Given the description of an element on the screen output the (x, y) to click on. 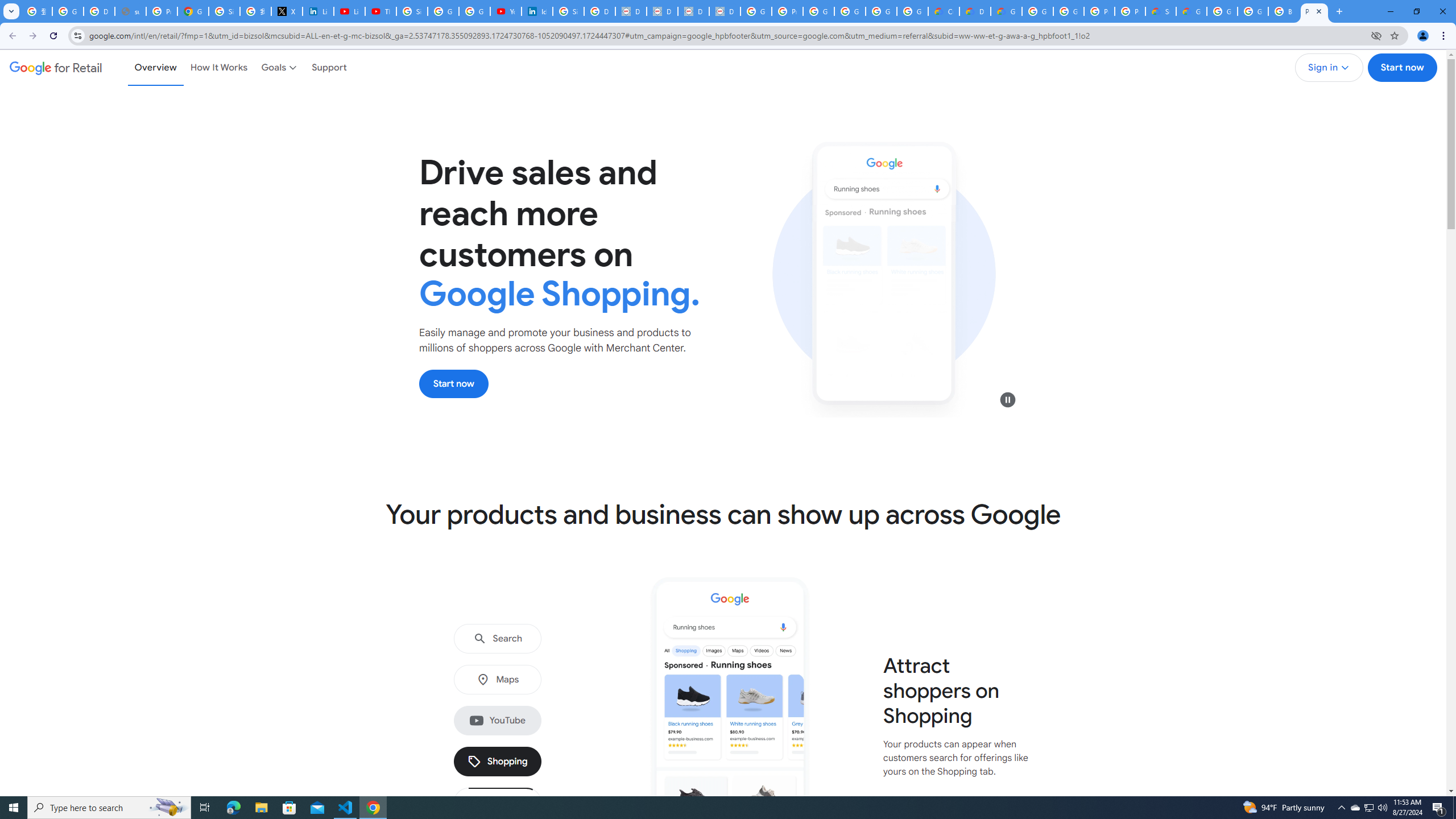
Google Workspace - Specific Terms (912, 11)
